Given the description of an element on the screen output the (x, y) to click on. 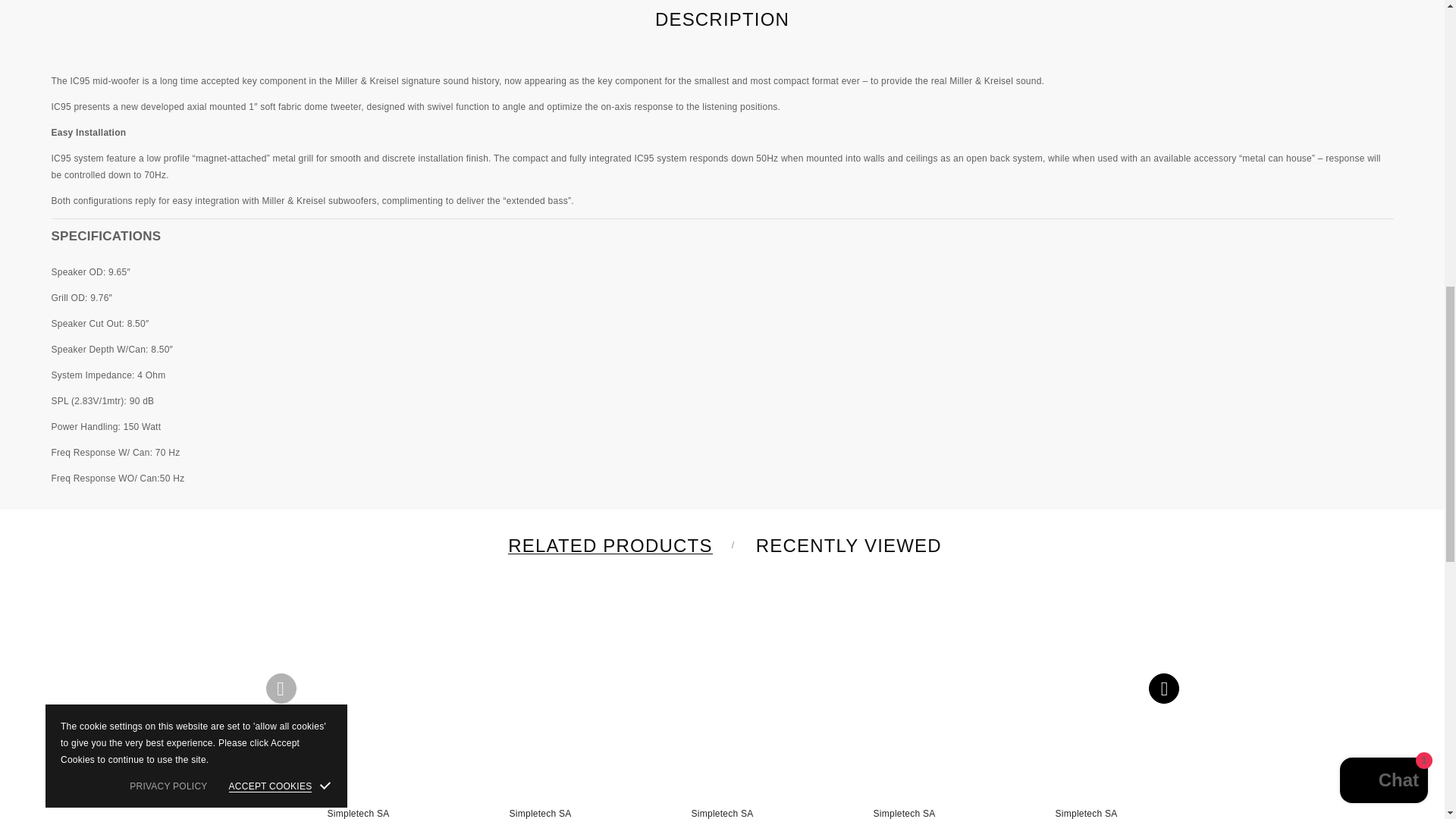
Simpletech SA (358, 813)
Simpletech SA (540, 813)
